Given the description of an element on the screen output the (x, y) to click on. 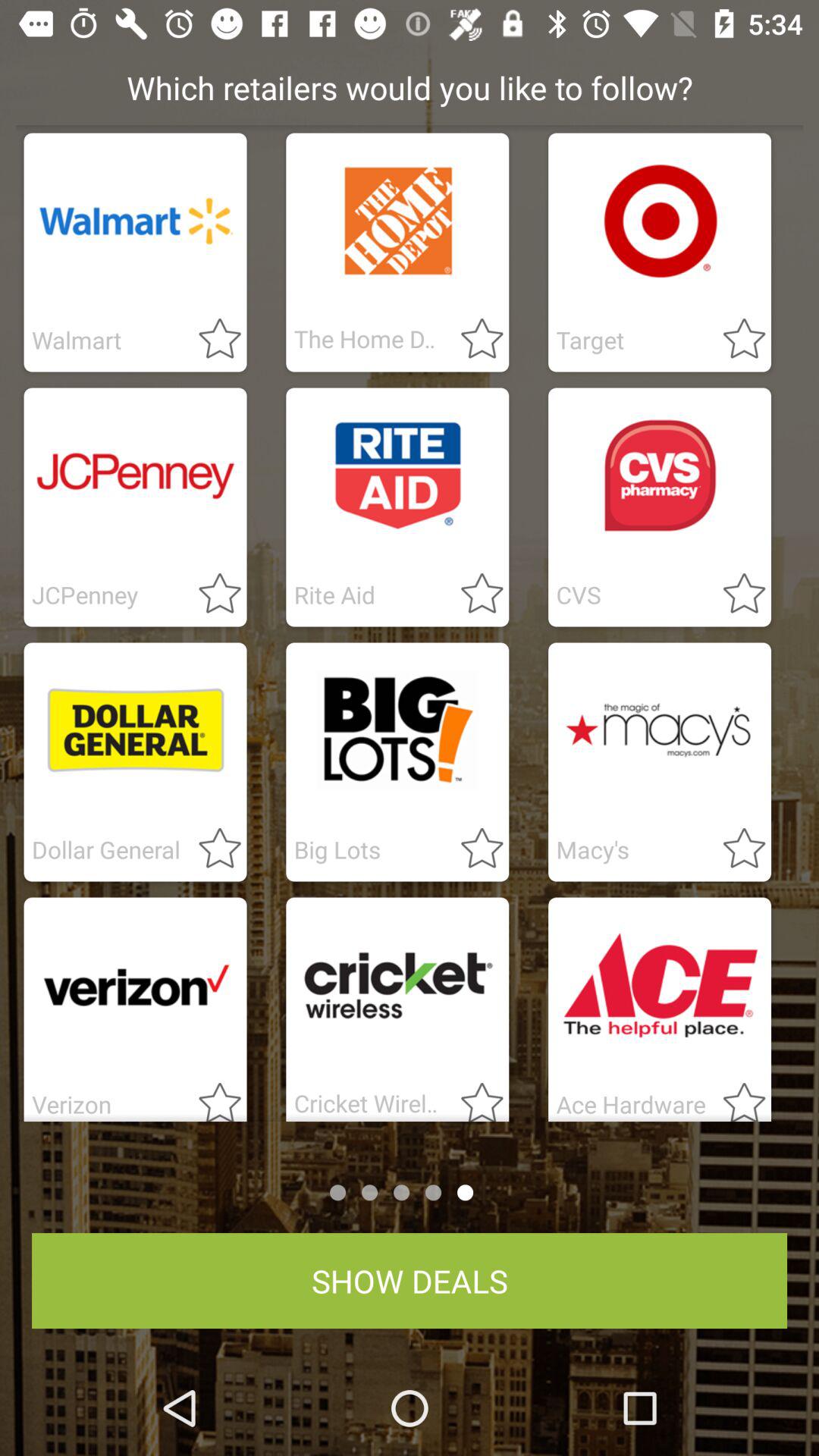
save it as star marked (210, 594)
